Given the description of an element on the screen output the (x, y) to click on. 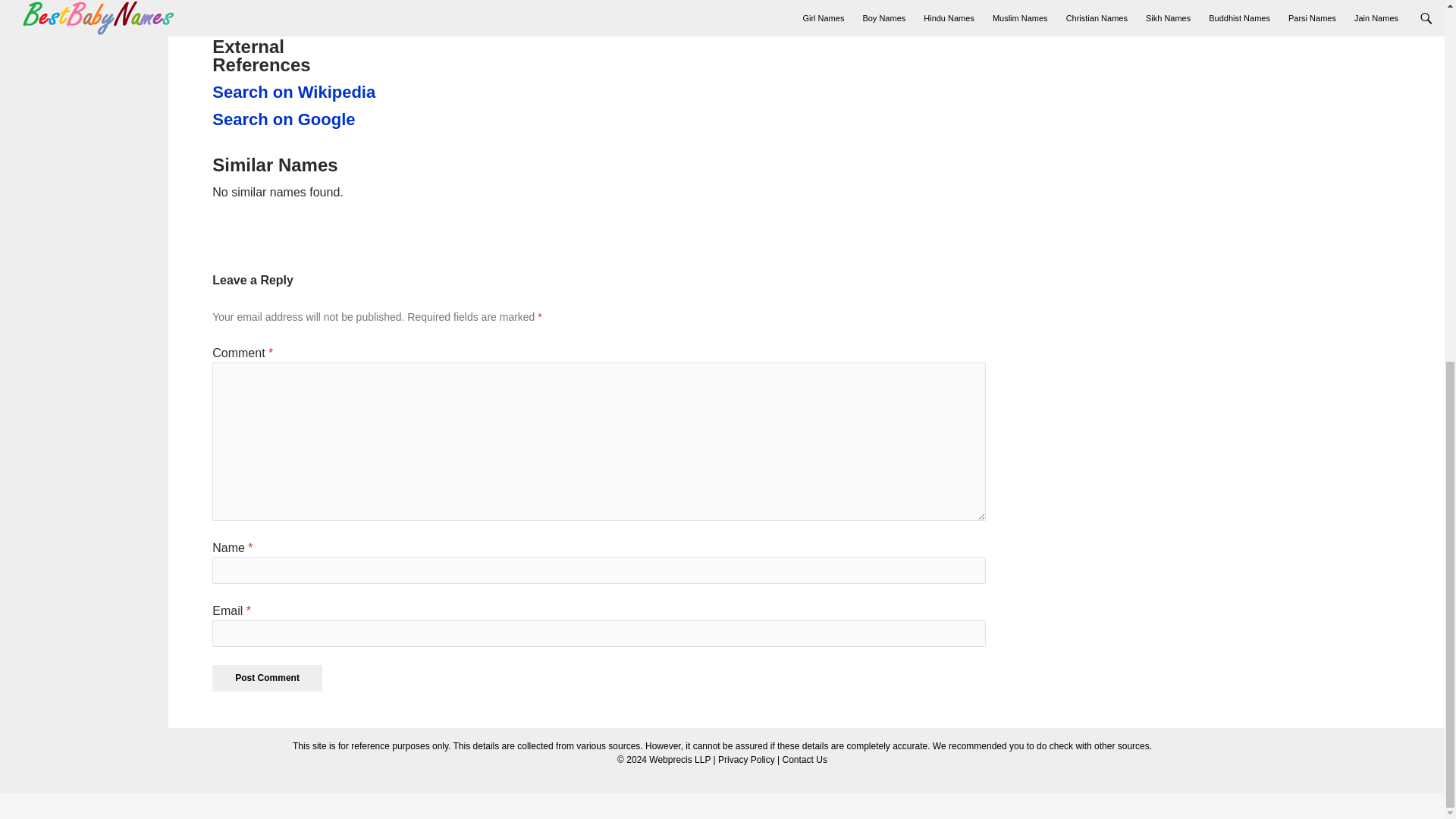
Search on Google (295, 119)
Post Comment (266, 678)
Post Comment (266, 678)
Search on Wikipedia (295, 92)
